Given the description of an element on the screen output the (x, y) to click on. 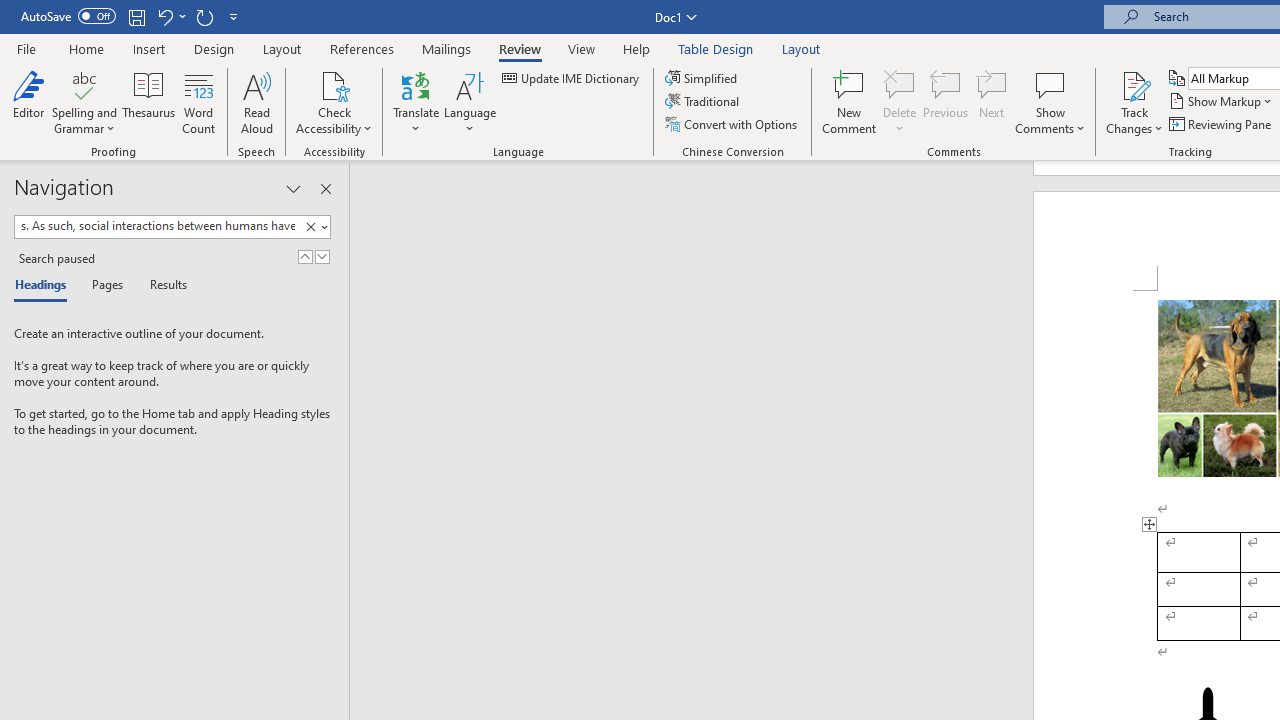
Spelling and Grammar (84, 84)
Clear (314, 227)
Check Accessibility (334, 84)
Undo Style (170, 15)
Update IME Dictionary... (572, 78)
Show Comments (1050, 102)
Track Changes (1134, 102)
Word Count (198, 102)
